Given the description of an element on the screen output the (x, y) to click on. 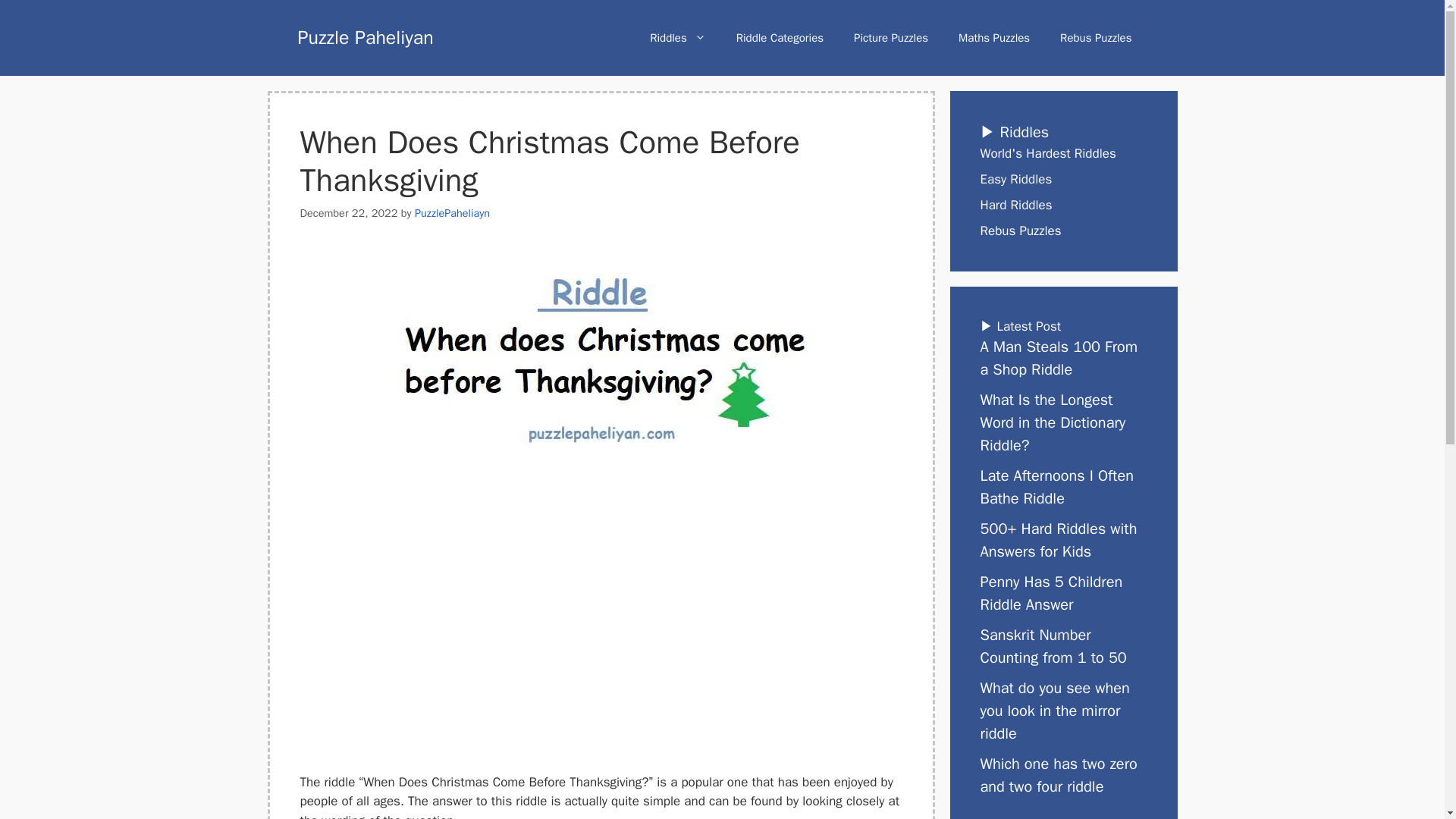
Riddles (677, 37)
World's Hardest Riddles (1047, 153)
Puzzle Paheliyan (364, 37)
Rebus Puzzles (1096, 37)
View all posts by PuzzlePaheliayn (451, 213)
Riddle Categories (779, 37)
PuzzlePaheliayn (451, 213)
Maths Puzzles (994, 37)
Picture Puzzles (890, 37)
